Given the description of an element on the screen output the (x, y) to click on. 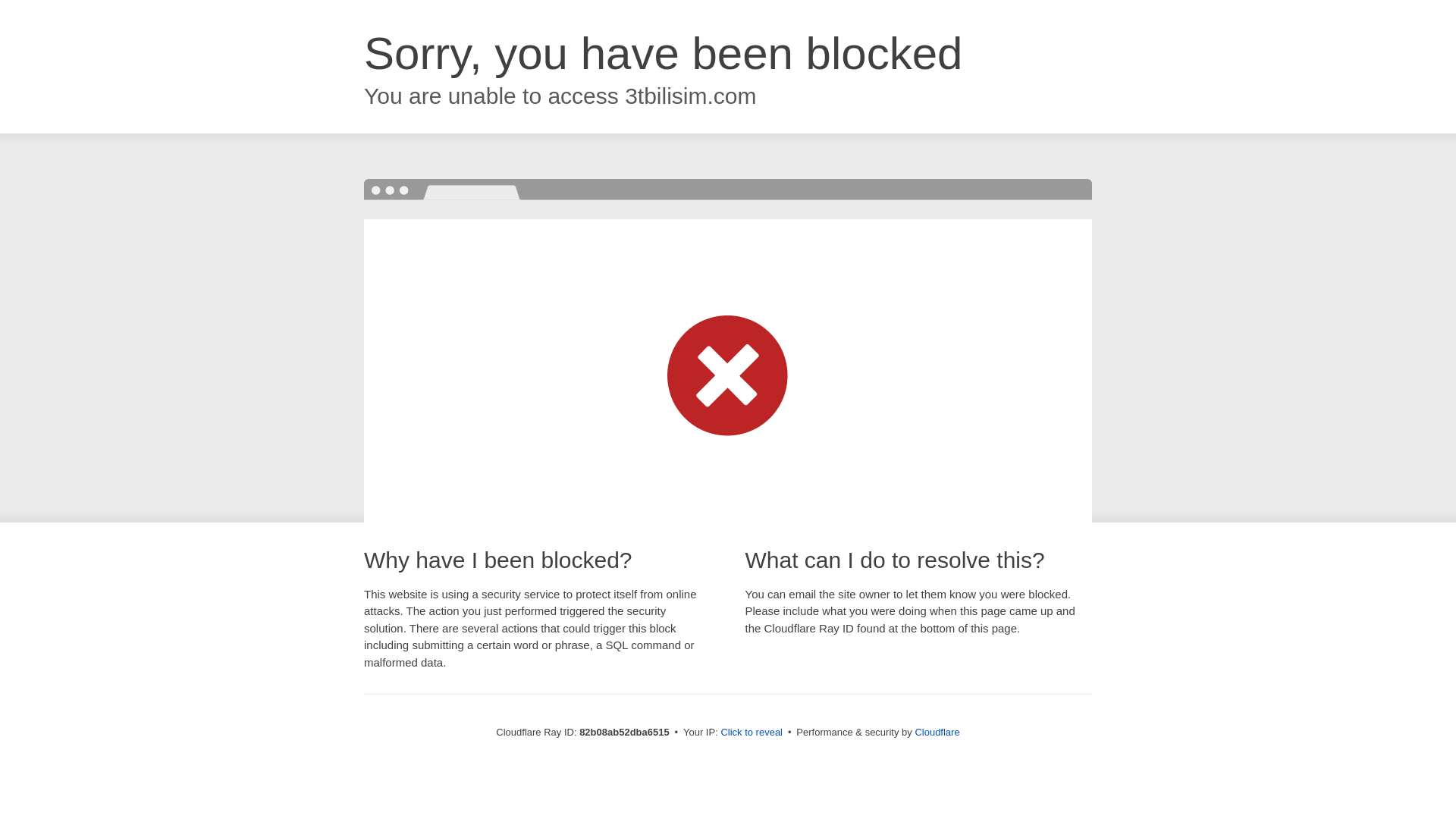
Click to reveal Element type: text (751, 732)
Cloudflare Element type: text (936, 731)
